Given the description of an element on the screen output the (x, y) to click on. 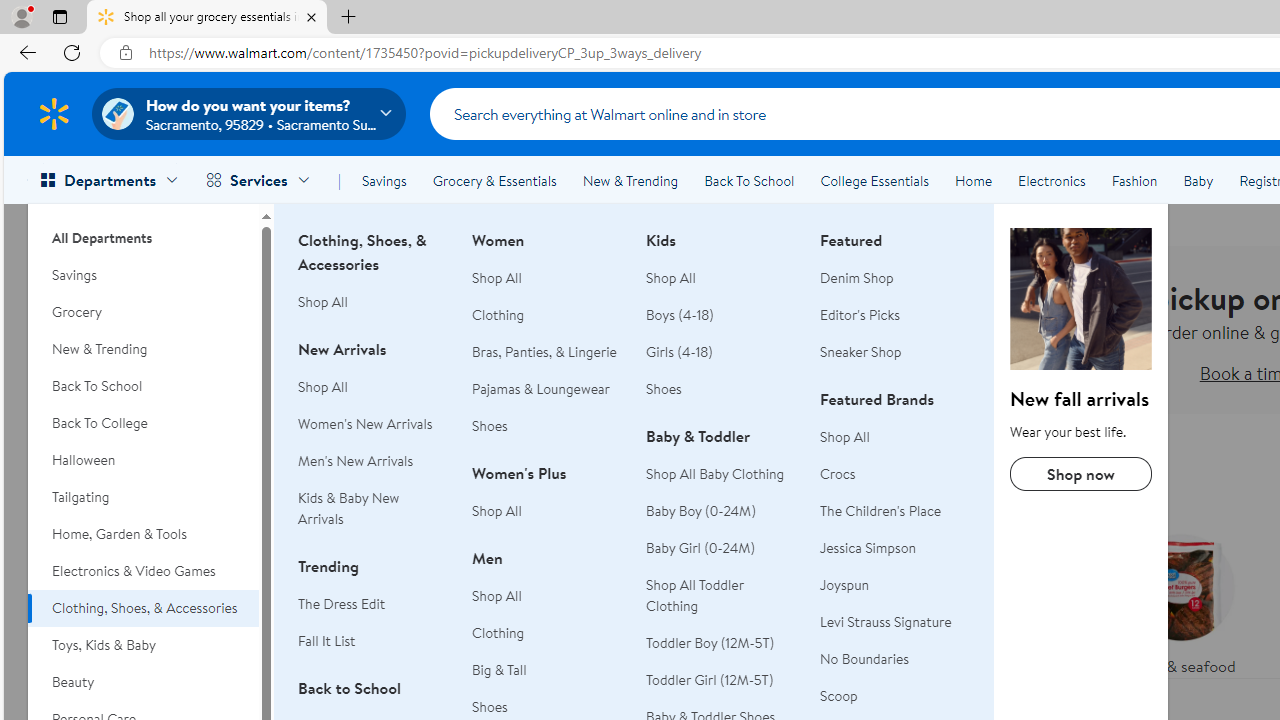
Shop All Toddler Clothing (694, 595)
Walmart Homepage (53, 113)
Baby Girl (0-24M) (721, 547)
Back To College (143, 423)
FeaturedDenim ShopEditor's PicksSneaker Shop (895, 307)
Back To School (143, 385)
Meat & seafood (1180, 599)
KidsShop AllBoys (4-18)Girls (4-18)Shoes (721, 326)
Beauty (143, 682)
Denim Shop (895, 277)
Pantry & Snacks (792, 650)
Grocery & Essentials (493, 180)
